Given the description of an element on the screen output the (x, y) to click on. 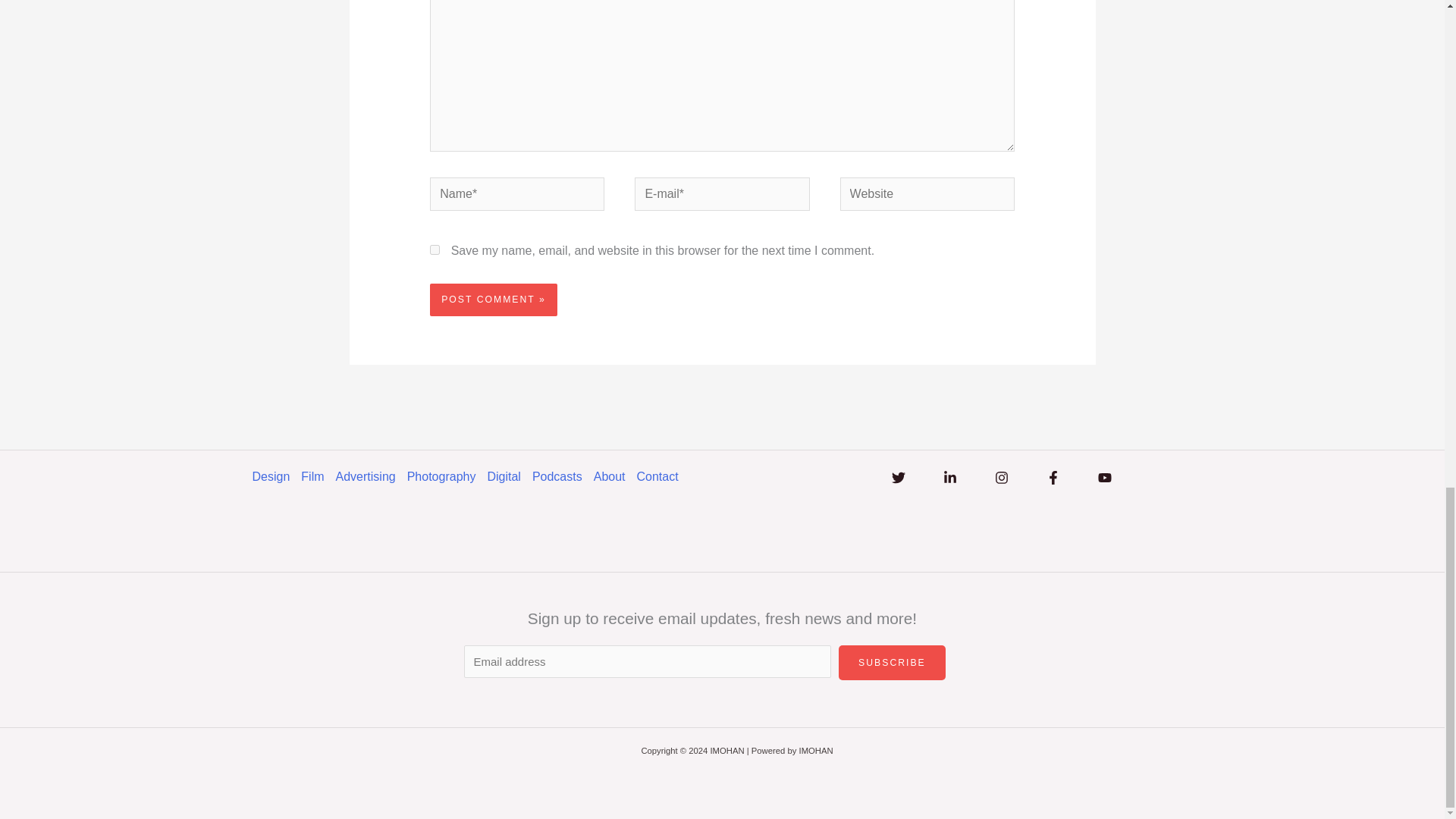
Design (276, 477)
Film (317, 477)
Photography (447, 477)
yes (434, 249)
Advertising (371, 477)
